Given the description of an element on the screen output the (x, y) to click on. 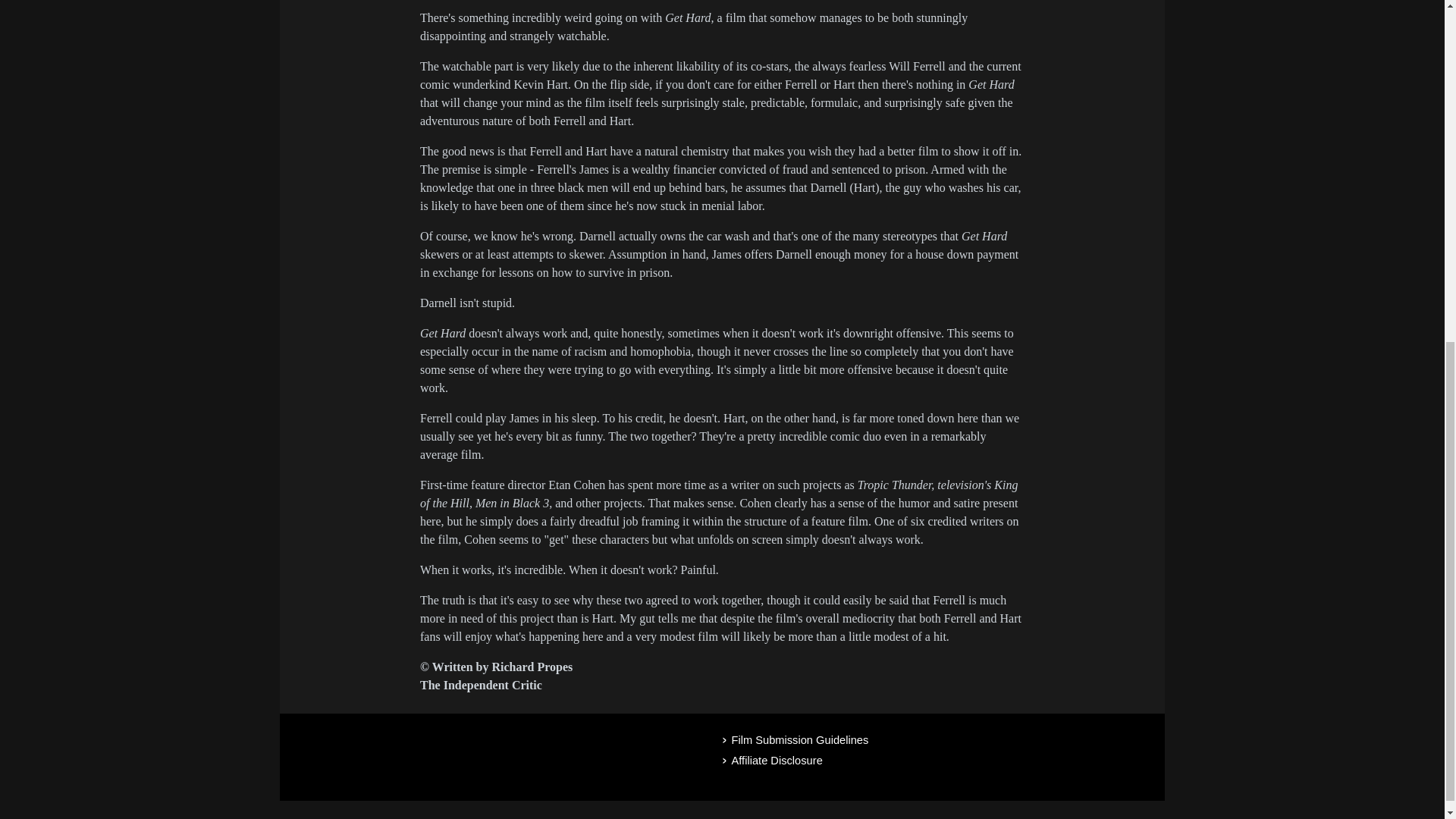
Film Submission Guidelines (937, 740)
Affiliate Disclosure (937, 760)
